Given the description of an element on the screen output the (x, y) to click on. 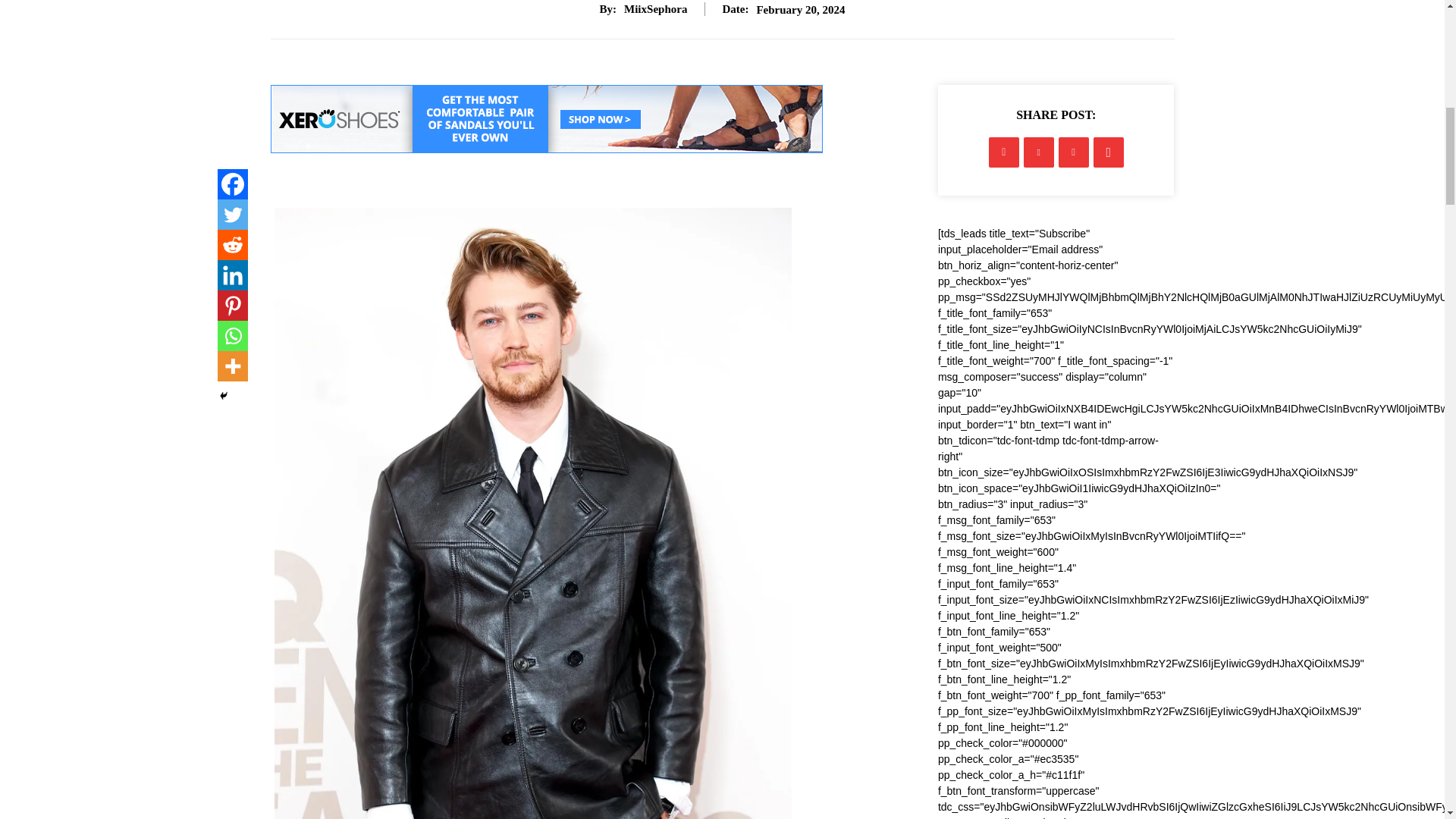
Linkedin (231, 275)
Reddit (231, 245)
Twitter (231, 214)
Facebook (231, 183)
MiixSephora (655, 8)
Pinterest (231, 305)
